Given the description of an element on the screen output the (x, y) to click on. 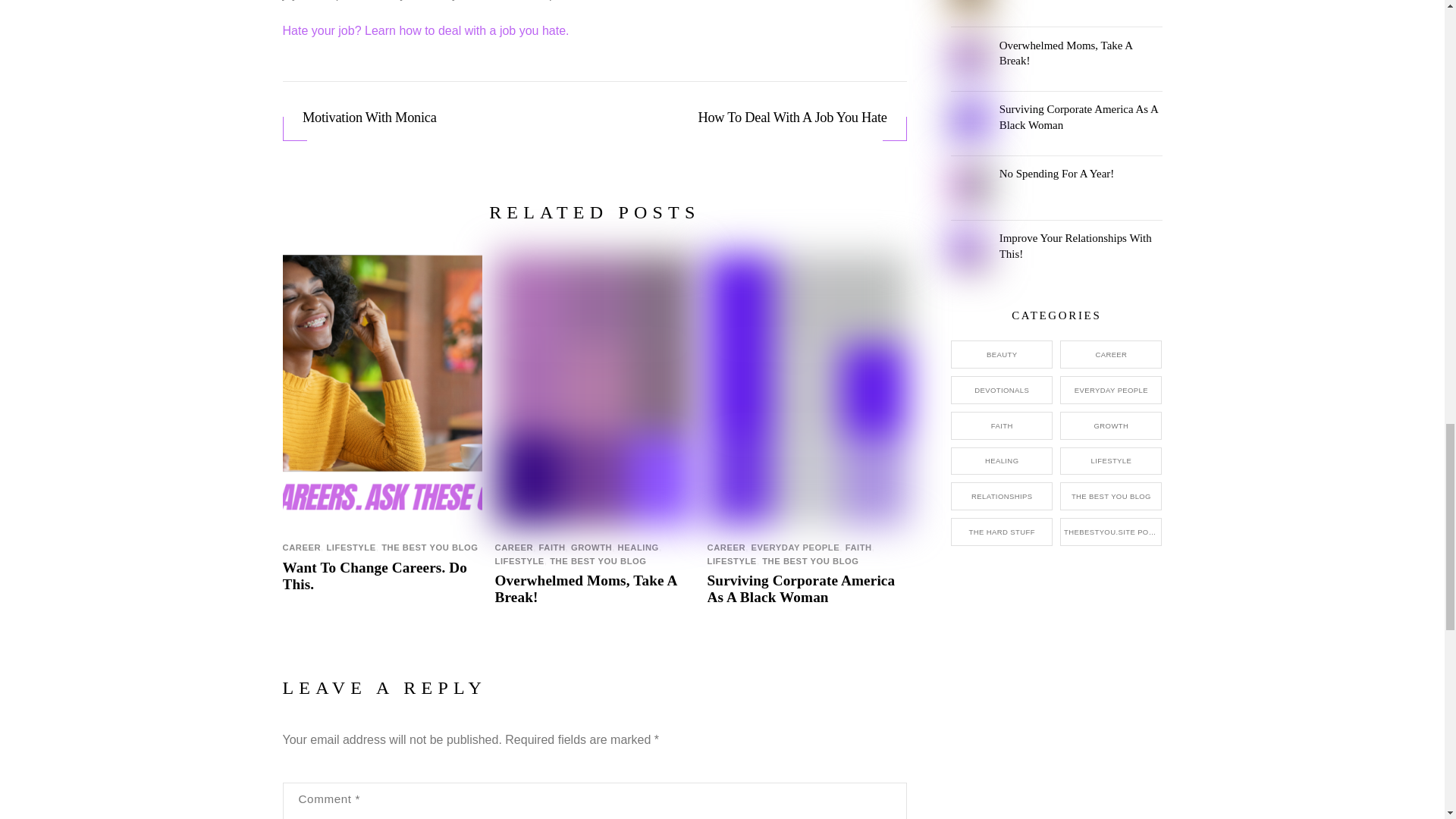
Want To Change Careers. Do This. (374, 575)
CAREER (301, 547)
CAREER (514, 547)
THE BEST YOU BLOG (429, 547)
Motivation With Monica (439, 117)
overwhemledmoms (969, 56)
SurvivingCorporateAmerica (969, 120)
FAITH (551, 547)
TheTruthAboutBeingAWorkingMom (969, 249)
LIFESTYLE (350, 547)
